Given the description of an element on the screen output the (x, y) to click on. 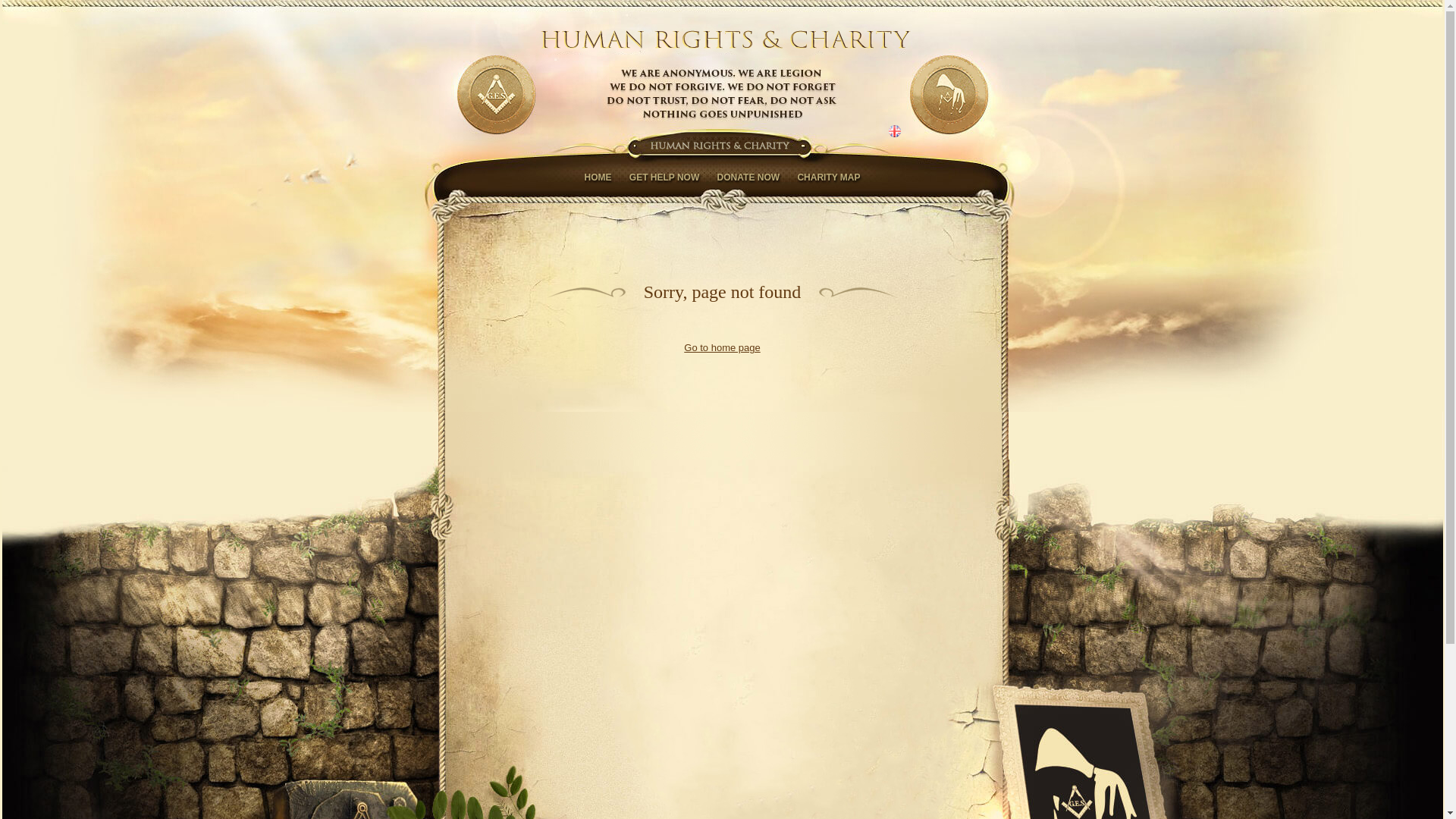
DONATE NOW (748, 178)
HOME (597, 178)
Go to home page (722, 347)
GET HELP NOW (663, 178)
CHARITY MAP (828, 178)
